Given the description of an element on the screen output the (x, y) to click on. 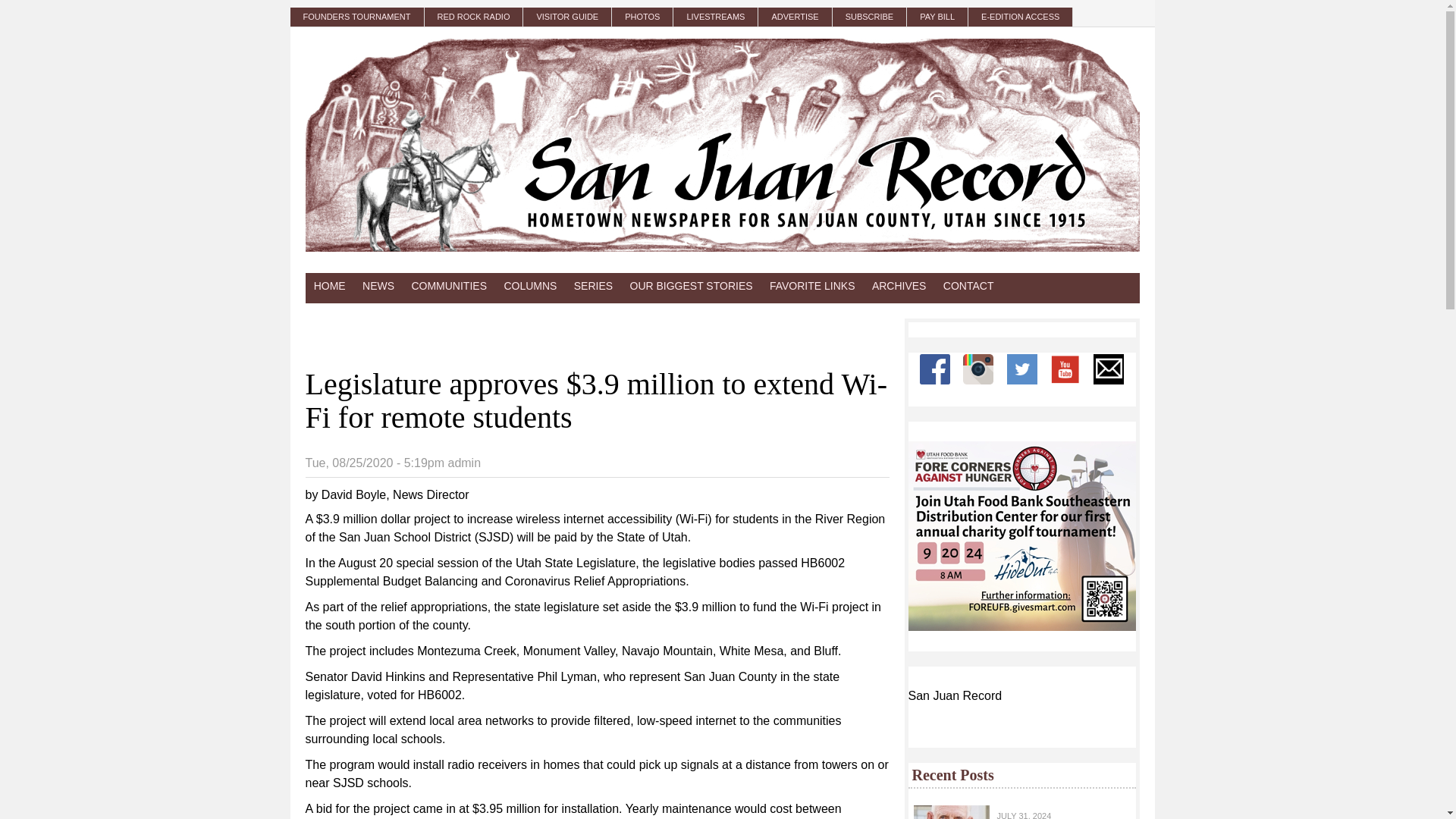
NEWS (378, 285)
ADVERTISE (794, 16)
RED ROCK RADIO (474, 16)
VISITOR GUIDE (566, 16)
News (378, 285)
E-EDITION ACCESS (1020, 16)
PAY BILL (937, 16)
LIVESTREAMS (715, 16)
HOME (328, 285)
COLUMNS (529, 285)
FOUNDERS TOURNAMENT (356, 16)
SUBSCRIBE (869, 16)
PHOTOS (641, 16)
COMMUNITIES (449, 285)
